Given the description of an element on the screen output the (x, y) to click on. 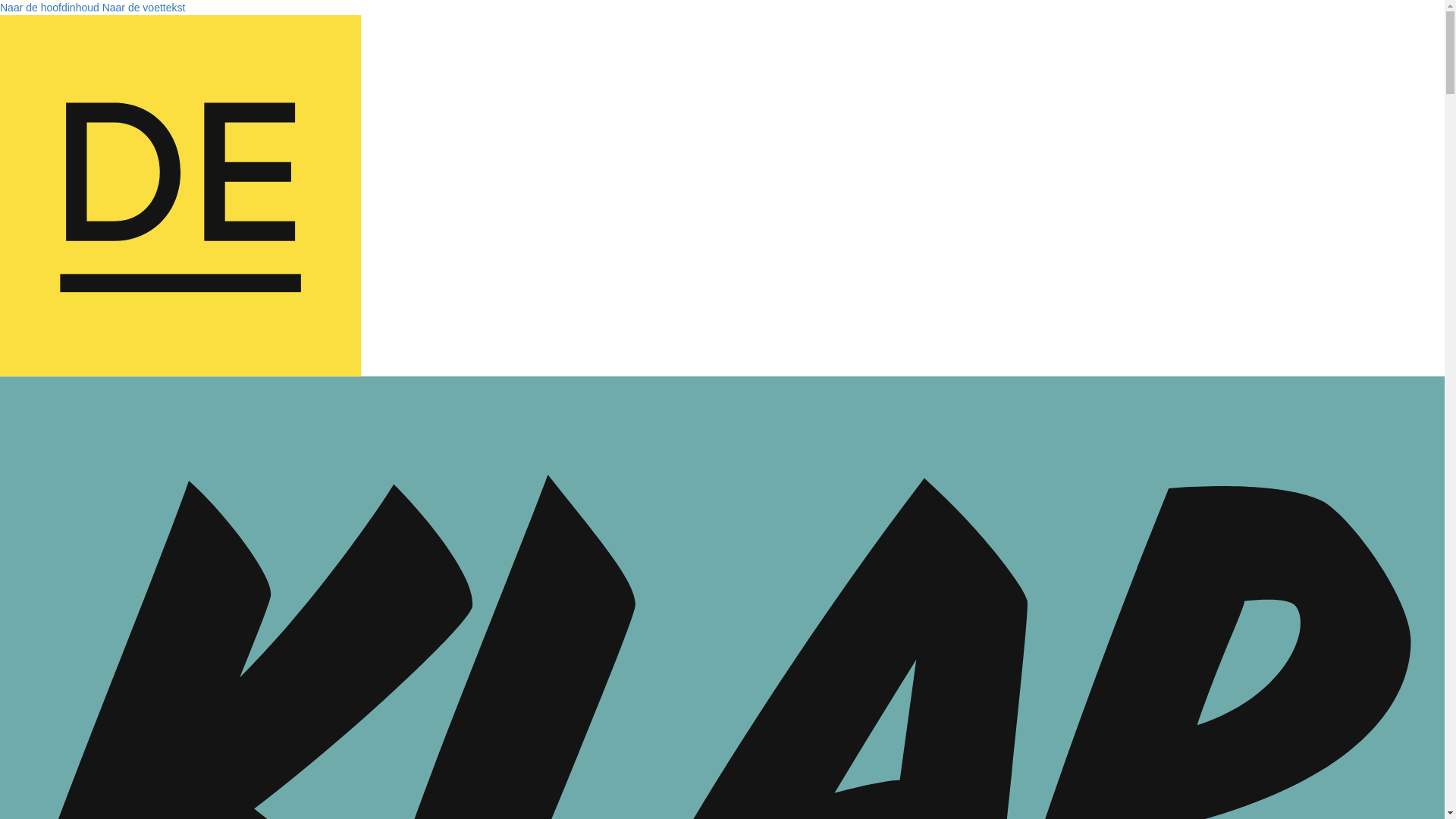
Naar de hoofdinhoud Element type: text (49, 7)
Naar de voettekst Element type: text (143, 7)
